Given the description of an element on the screen output the (x, y) to click on. 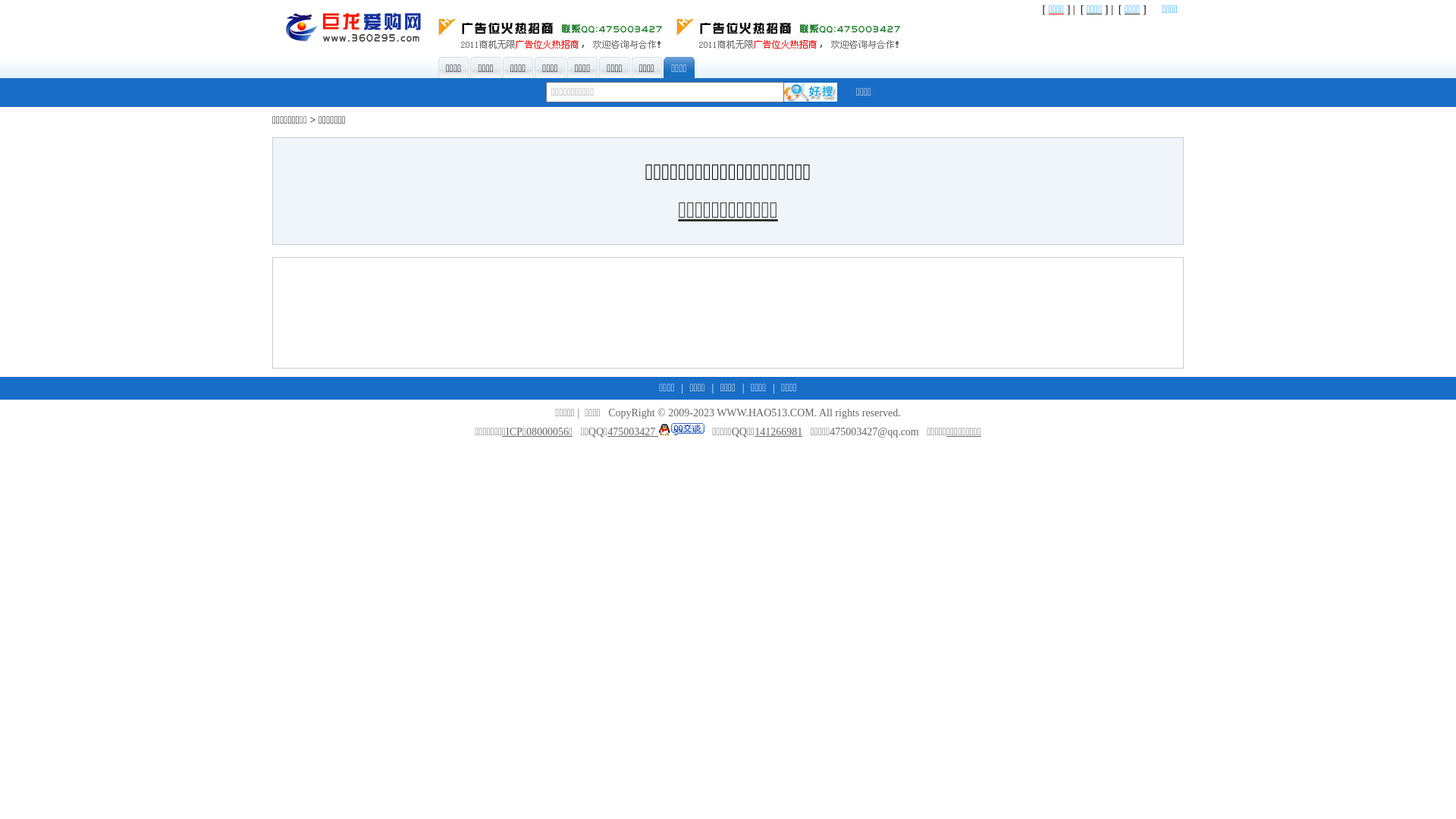
475003427 Element type: text (655, 431)
141266981 Element type: text (778, 431)
